Given the description of an element on the screen output the (x, y) to click on. 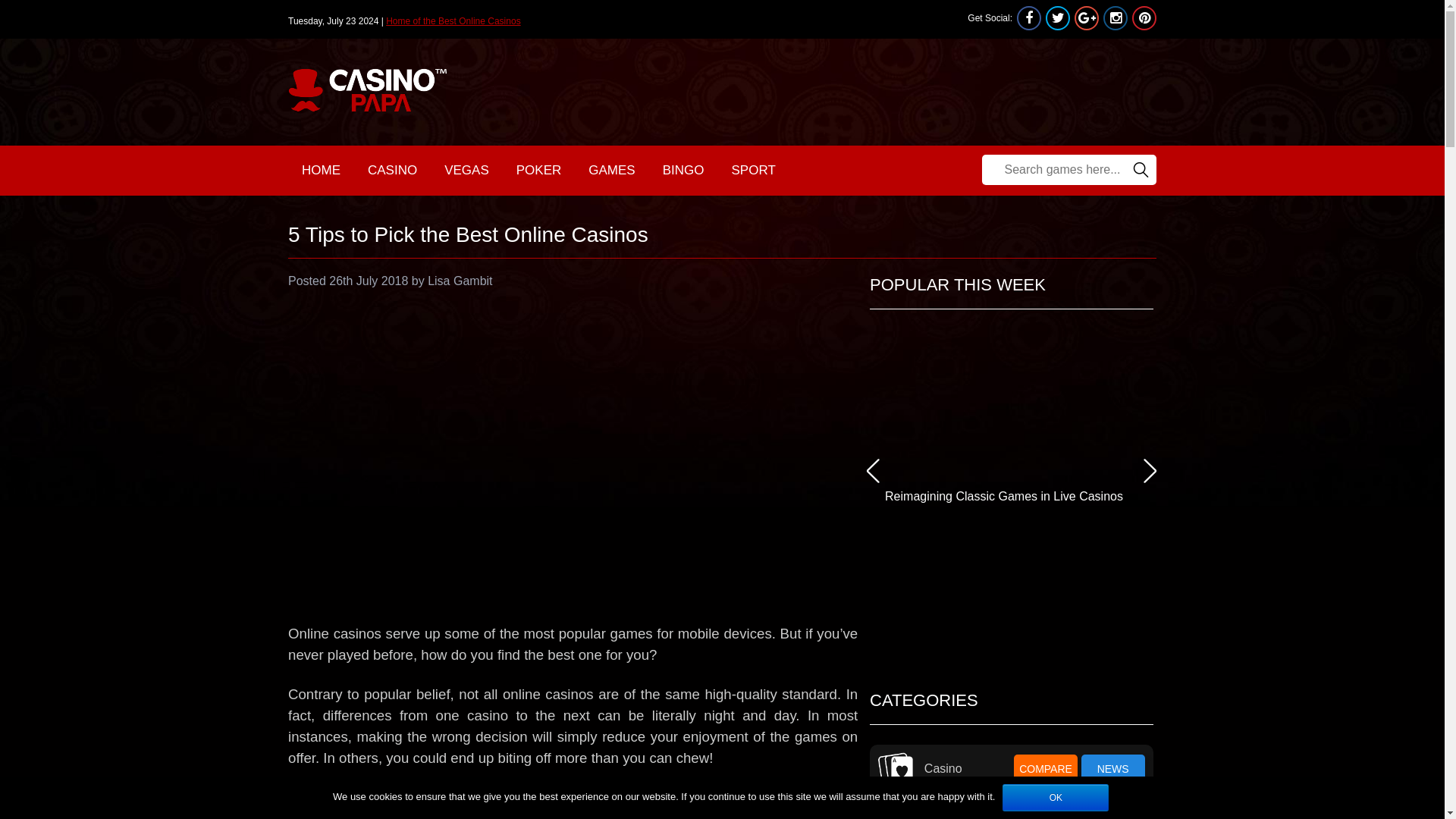
SPORT (753, 170)
Search (1140, 169)
HOME (320, 170)
GAMES (611, 170)
BINGO (683, 170)
VEGAS (466, 170)
Home of the Best Online Casinos (452, 20)
Read the latest reviews of the best casinos online... (452, 20)
POKER (538, 170)
CASINO (391, 170)
